Given the description of an element on the screen output the (x, y) to click on. 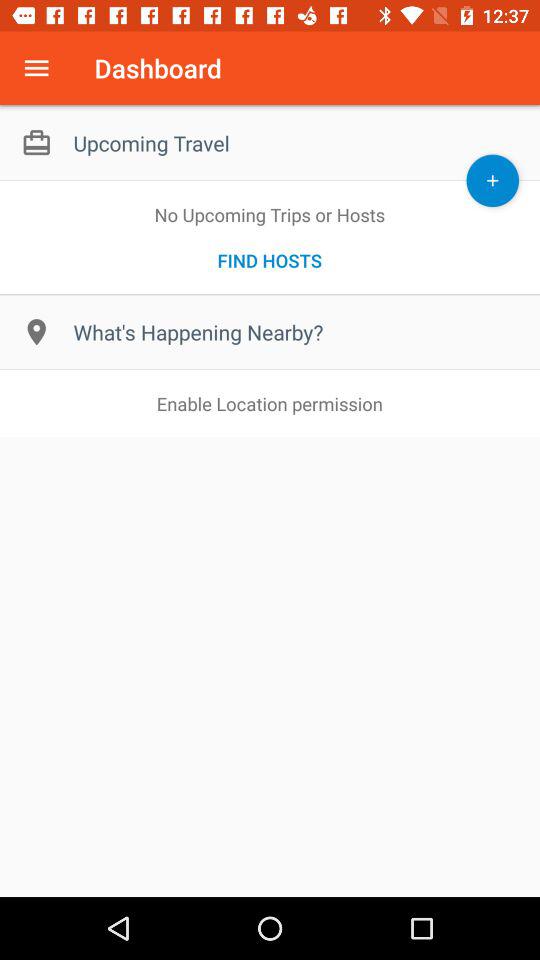
more information (36, 68)
